Given the description of an element on the screen output the (x, y) to click on. 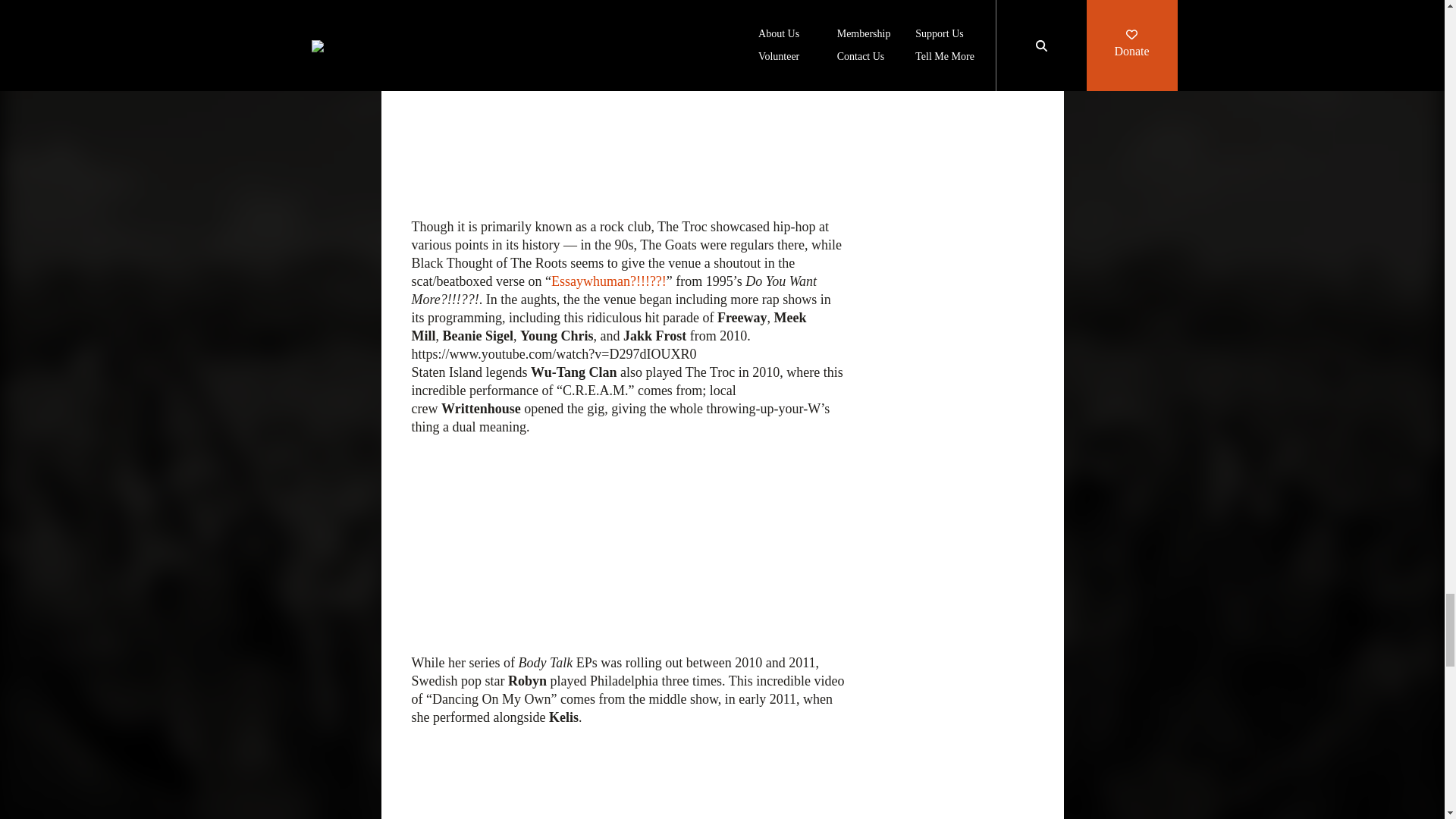
cypress hill in philly, the troc (627, 772)
Essaywhuman?!!!??! (608, 281)
